Given the description of an element on the screen output the (x, y) to click on. 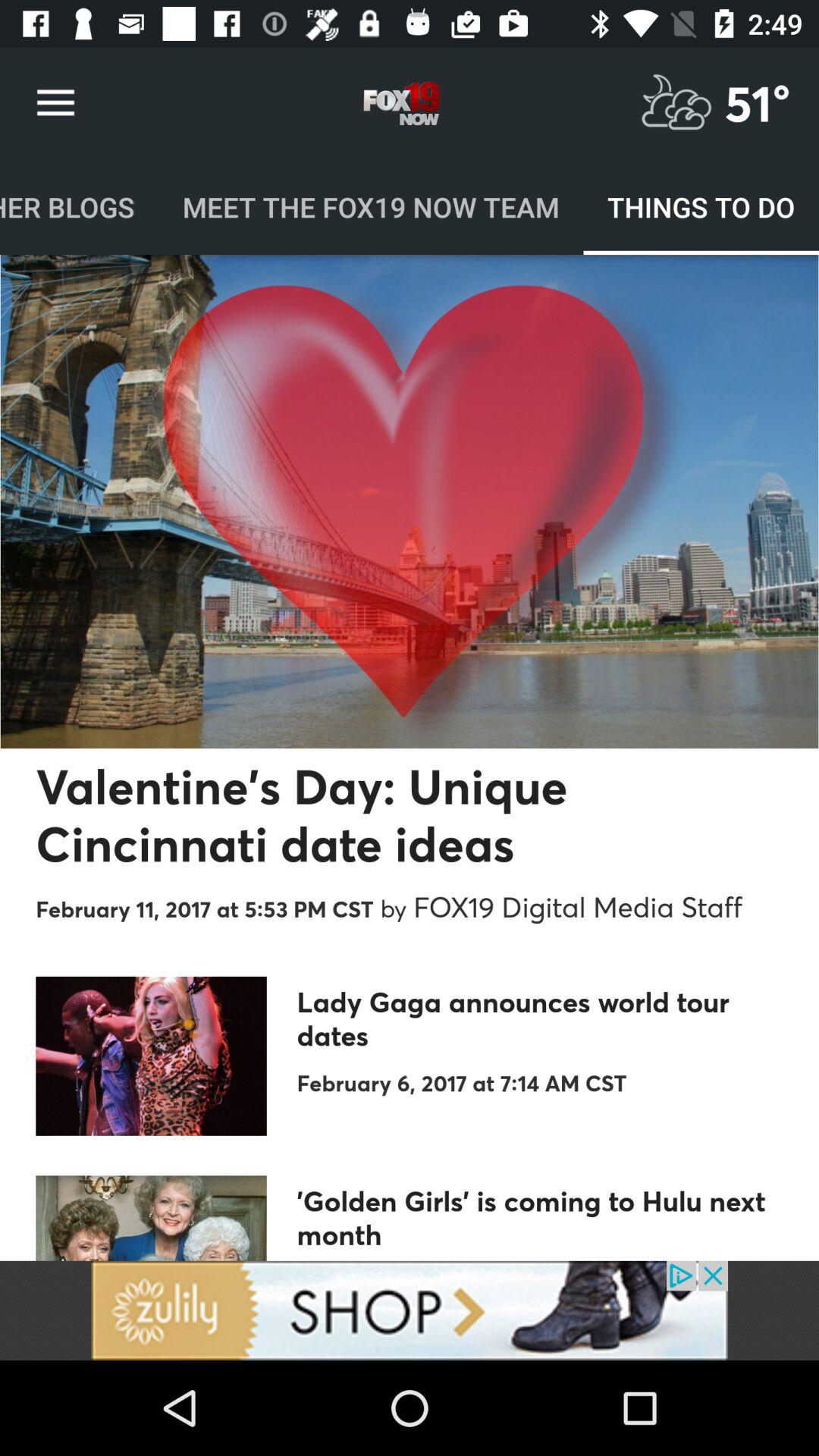
weather button (676, 103)
